Given the description of an element on the screen output the (x, y) to click on. 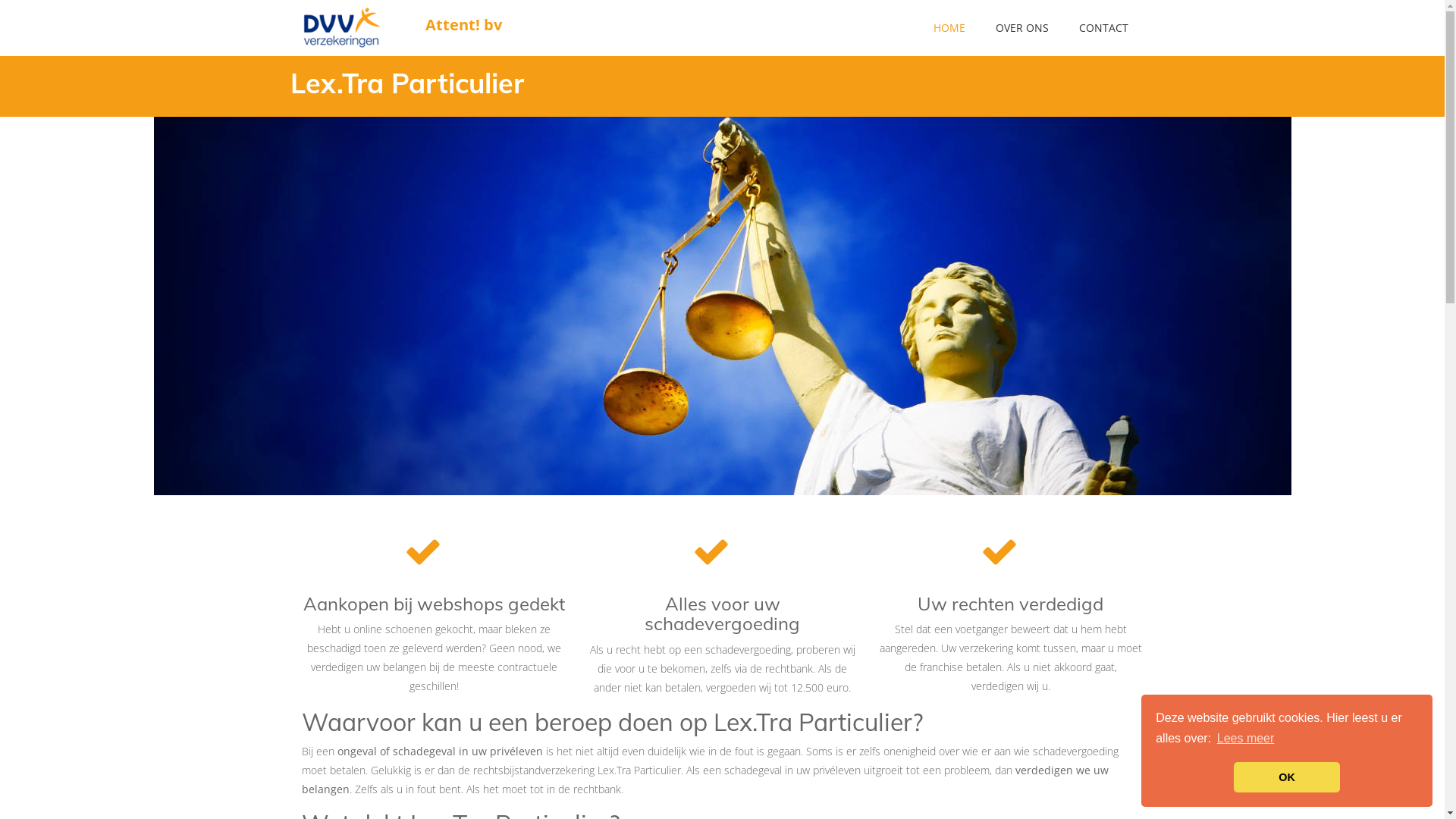
Lees meer Element type: text (1245, 738)
HOME
(HUIDIGE PAGINA) Element type: text (948, 28)
OVER ONS Element type: text (1021, 28)
OK Element type: text (1286, 777)
CONTACT Element type: text (1102, 28)
Attent! bv Element type: text (350, 27)
